Given the description of an element on the screen output the (x, y) to click on. 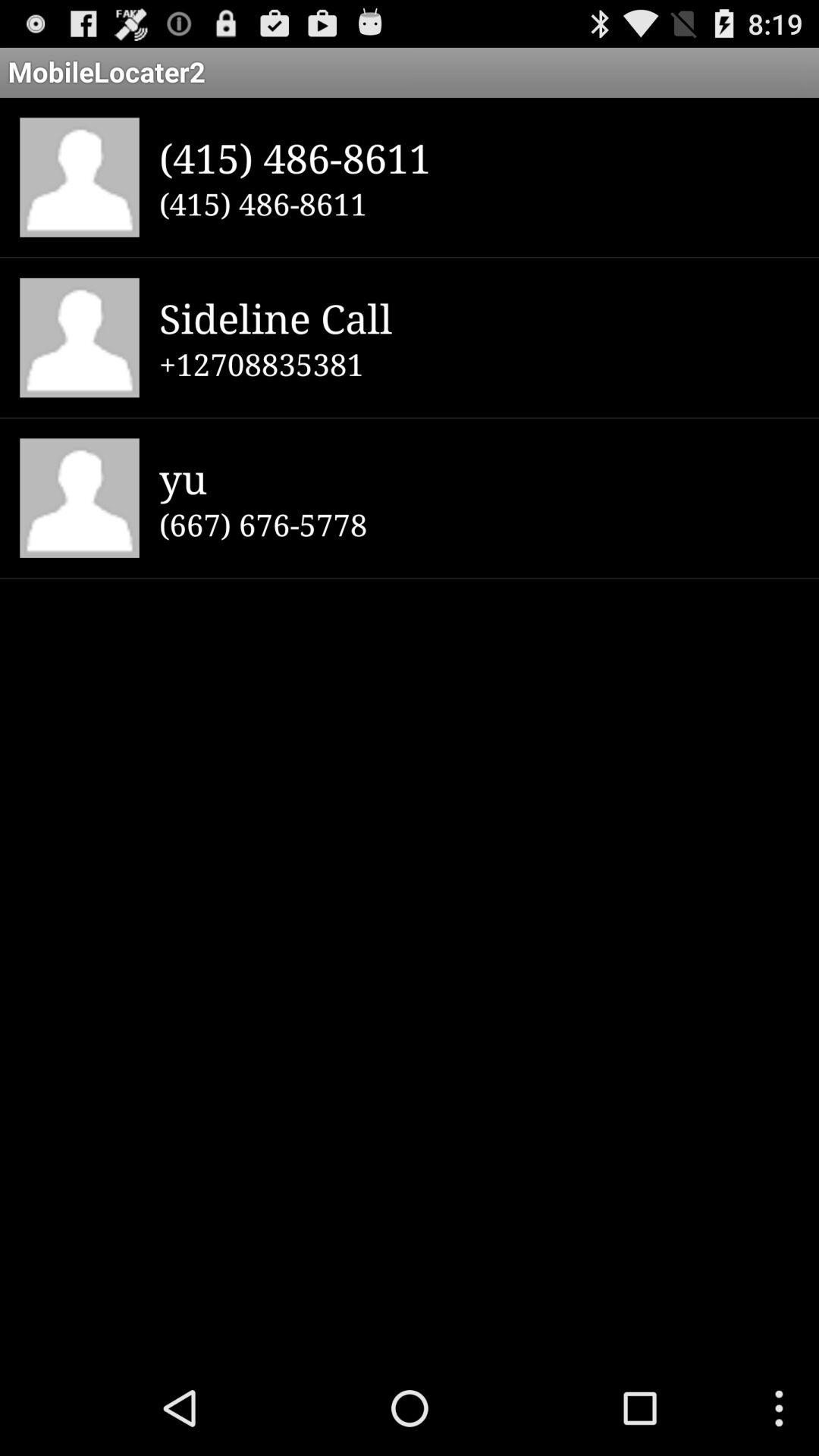
scroll until yu item (479, 478)
